Given the description of an element on the screen output the (x, y) to click on. 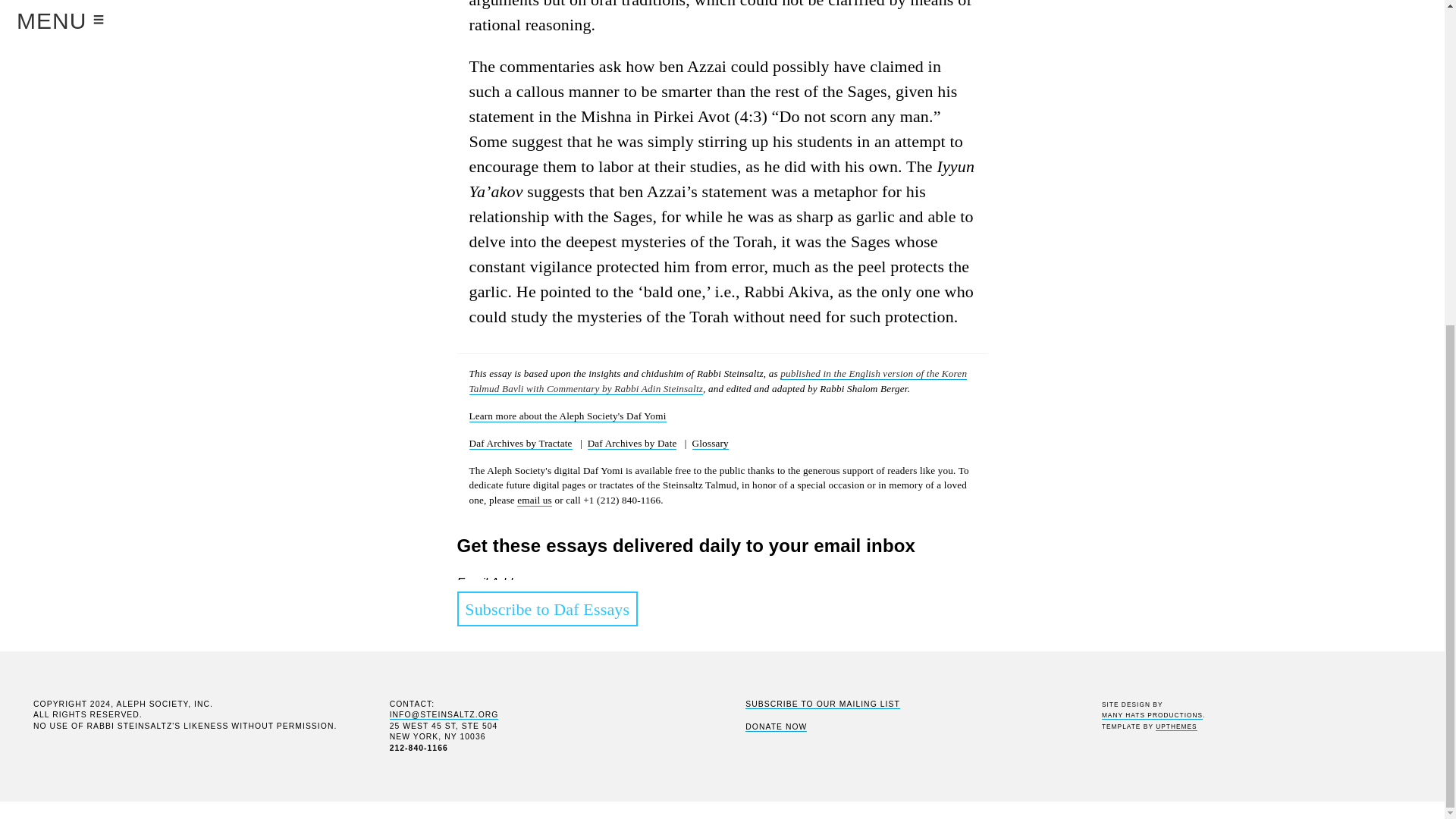
Subscribe to Daf Essays (547, 608)
Daf Archives by Date (632, 443)
Subscribe (490, 793)
Learn more about the Aleph Society's Daf Yomi (566, 416)
email us (533, 500)
Glossary (711, 443)
Daf Archives by Tractate (520, 443)
